Given the description of an element on the screen output the (x, y) to click on. 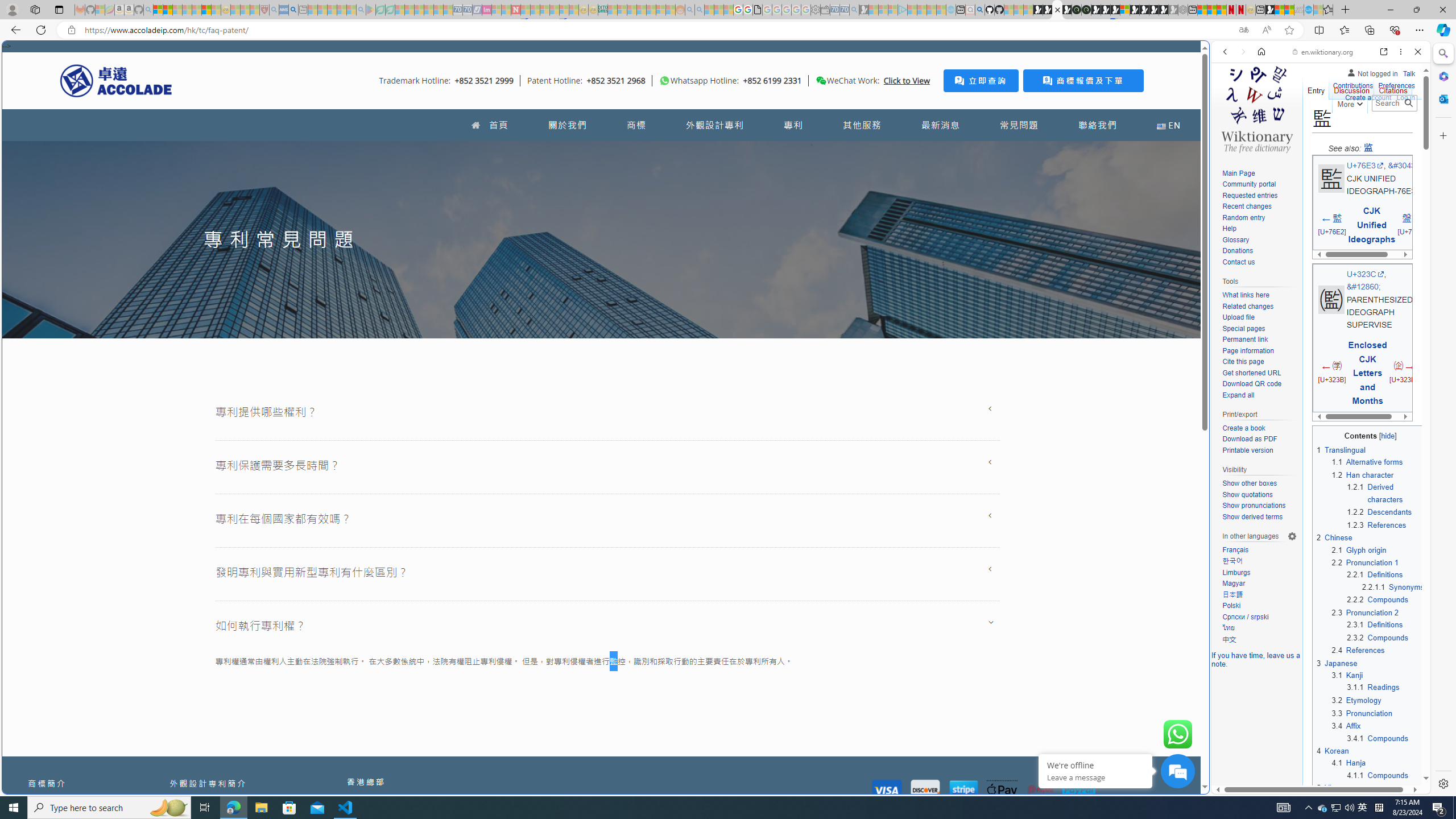
Visit the main page (1257, 108)
If you have time, leave us a note. (1255, 659)
2.3.2 Compounds (1377, 637)
3.1.1 Readings (1372, 687)
